Given the description of an element on the screen output the (x, y) to click on. 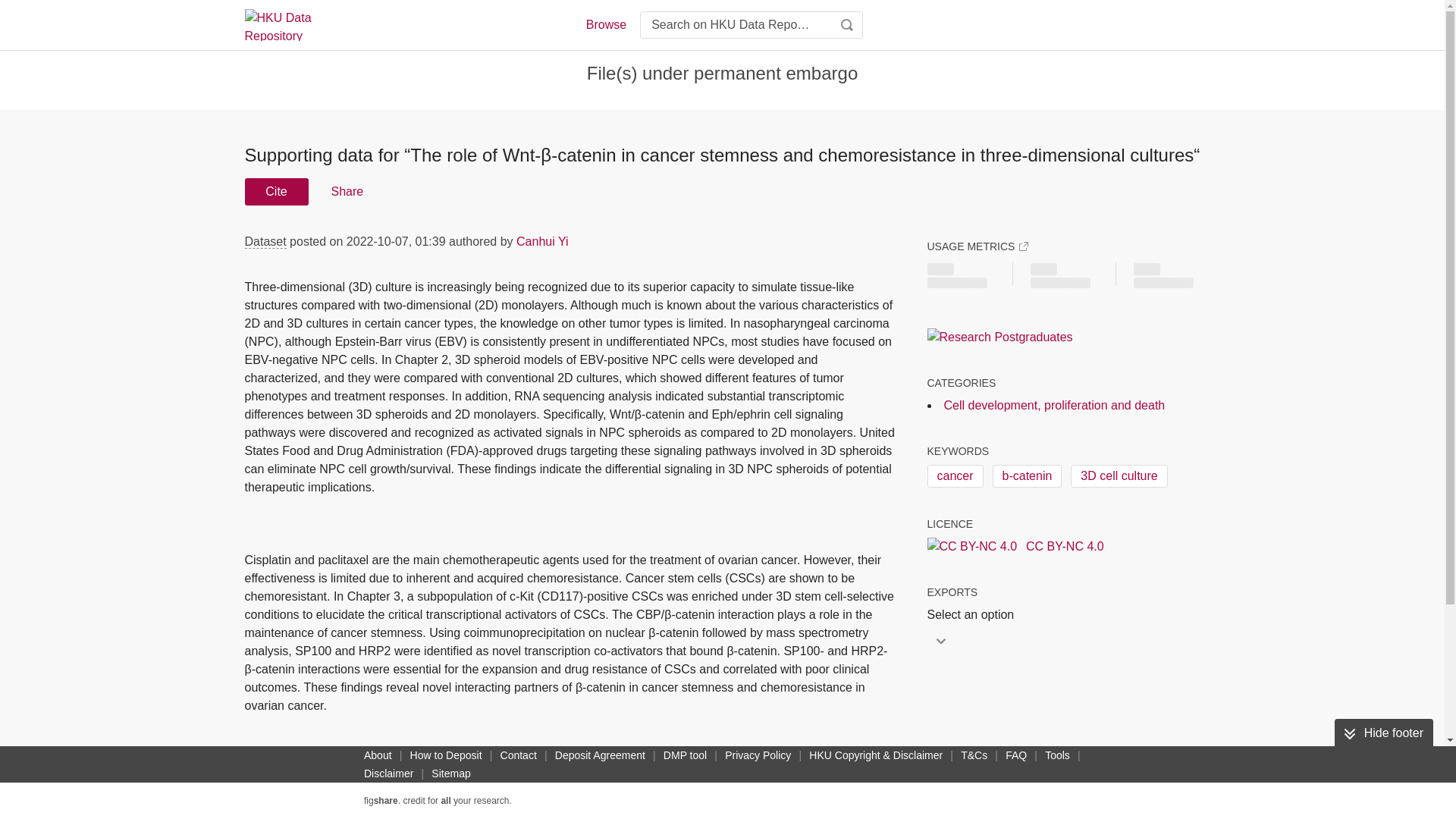
USAGE METRICS (976, 246)
Cite (275, 191)
DMP tool (685, 755)
About (377, 755)
cancer (954, 476)
Contact (518, 755)
Share (346, 191)
Sitemap (450, 773)
Tools (1057, 755)
b-catenin (1027, 476)
